Given the description of an element on the screen output the (x, y) to click on. 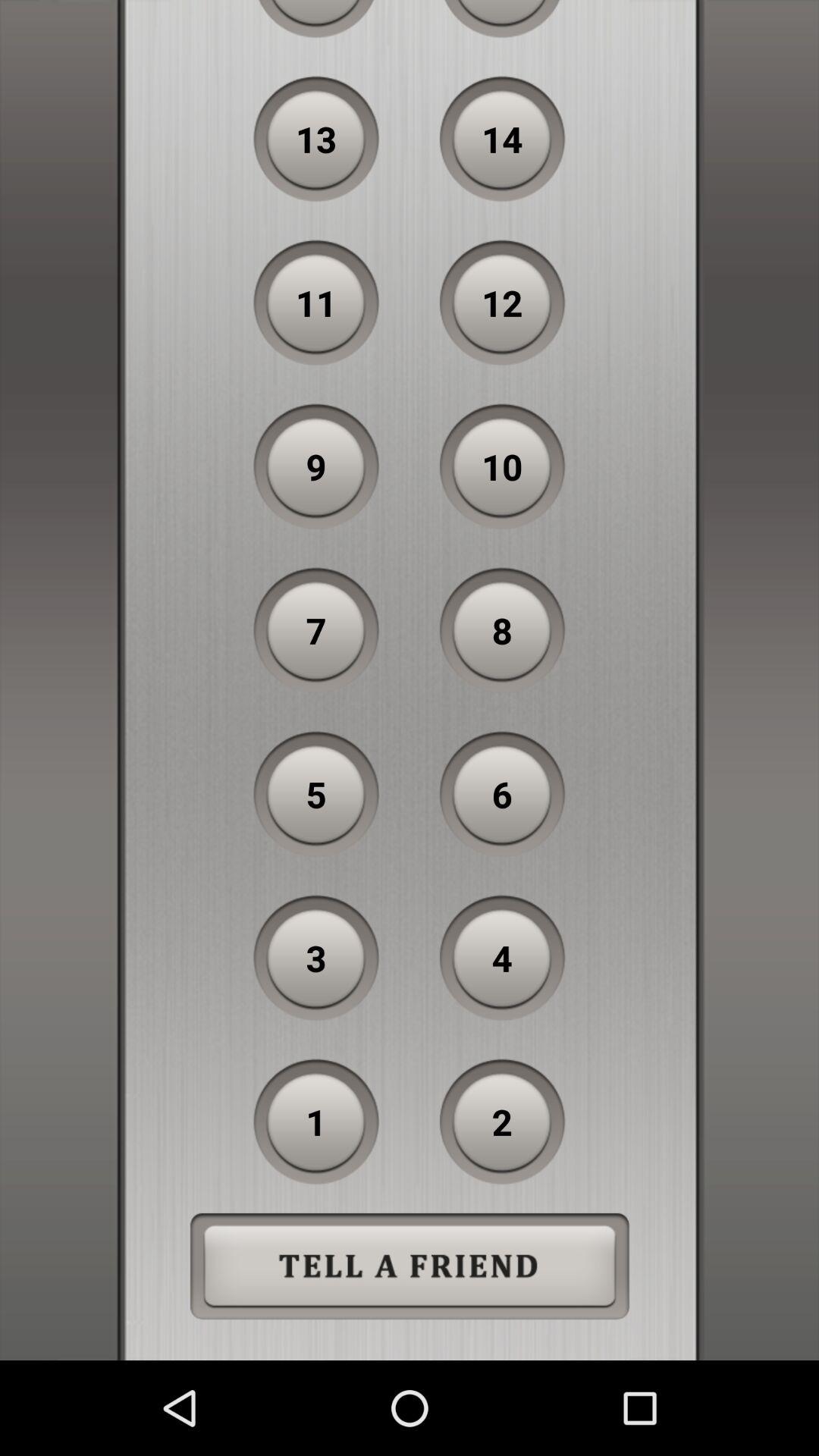
tap the 2 item (502, 1121)
